Given the description of an element on the screen output the (x, y) to click on. 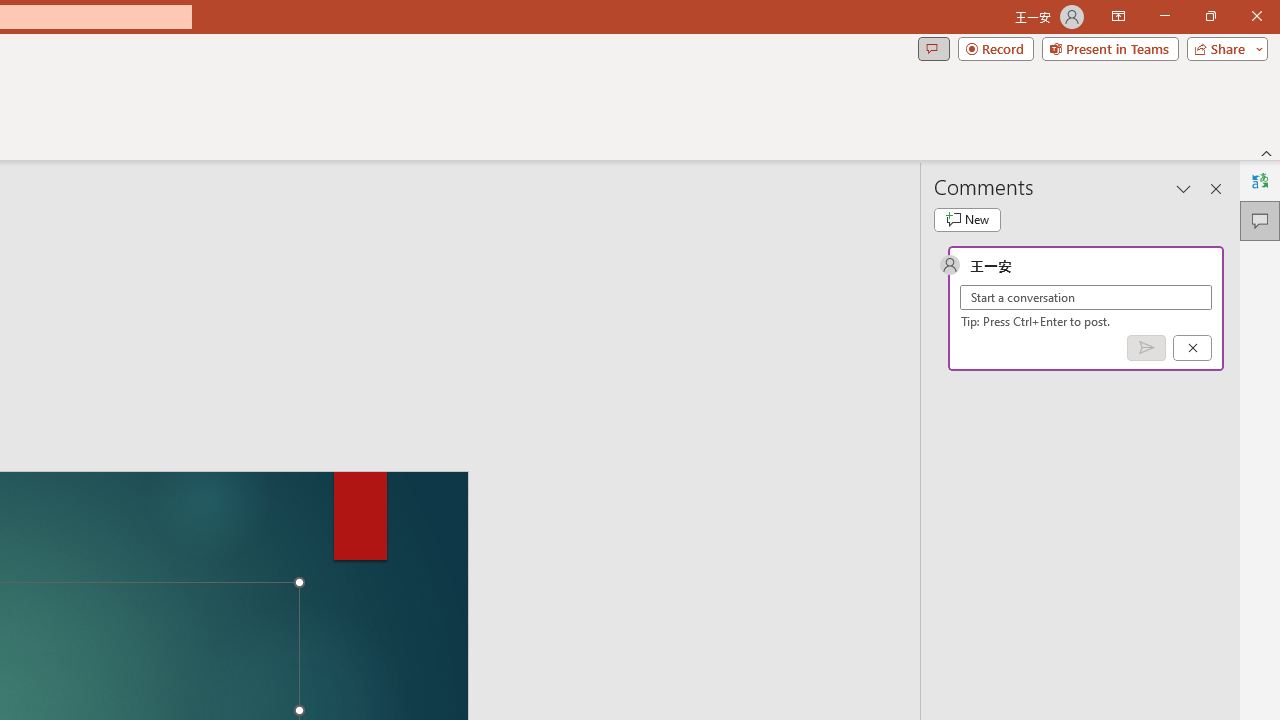
Start a conversation (1085, 297)
